Given the description of an element on the screen output the (x, y) to click on. 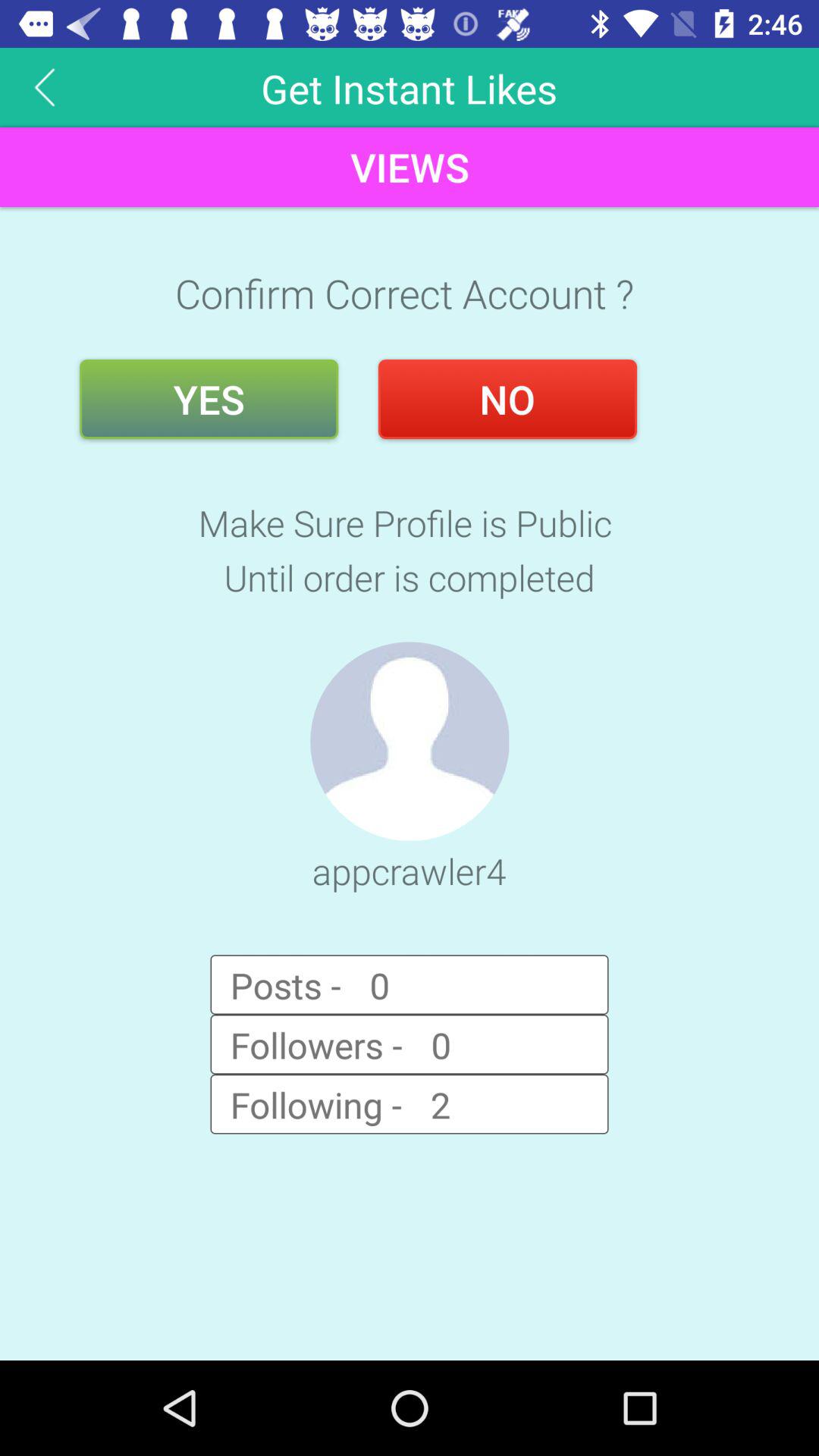
choose icon above make sure profile icon (507, 399)
